Given the description of an element on the screen output the (x, y) to click on. 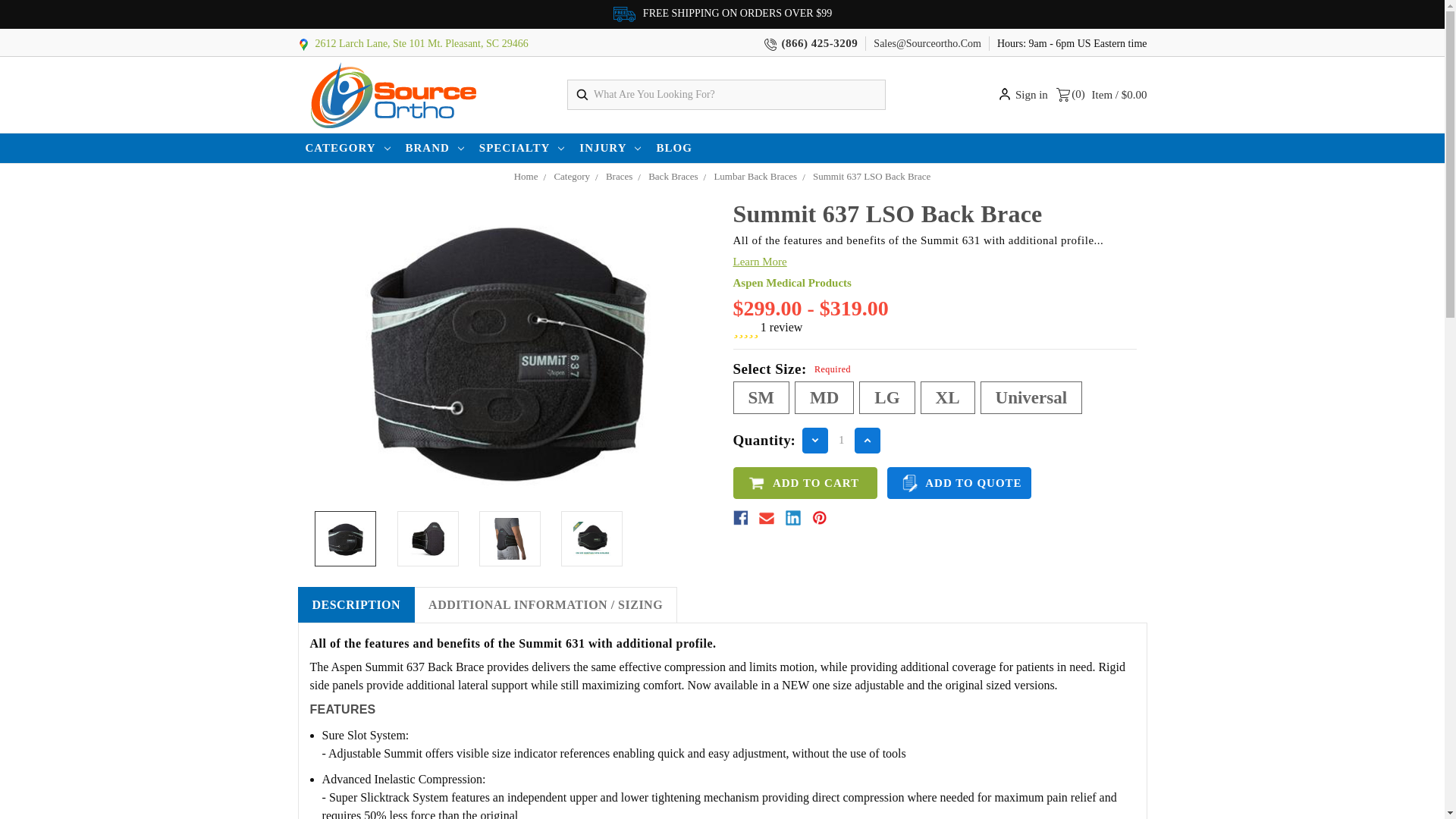
Phone (770, 44)
Cart icons (1062, 94)
Sign in (1023, 94)
CATEGORY (347, 147)
SourceOrtho (391, 94)
Free Shipping (623, 13)
